Given the description of an element on the screen output the (x, y) to click on. 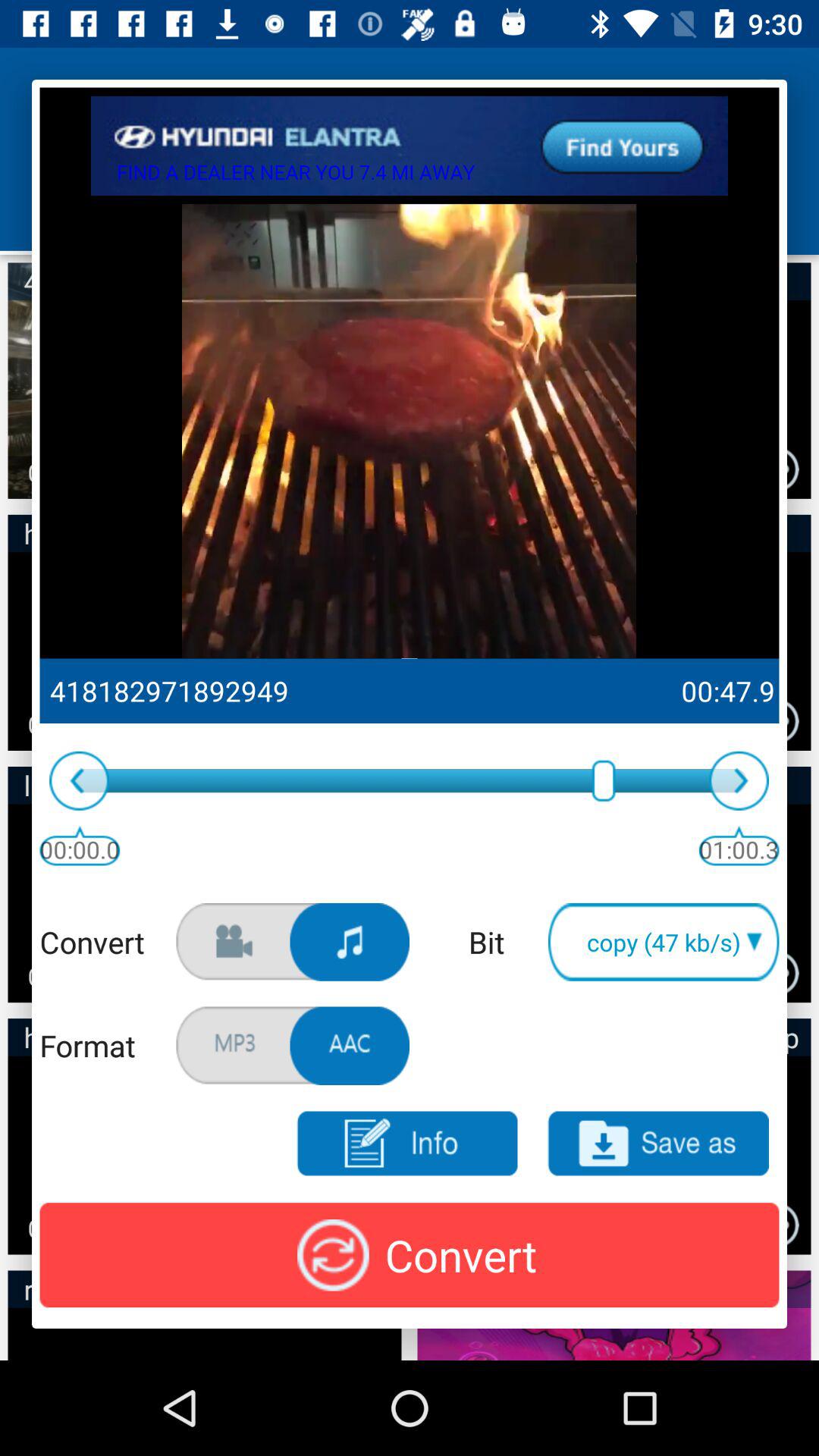
click to the save as option (657, 1143)
